Given the description of an element on the screen output the (x, y) to click on. 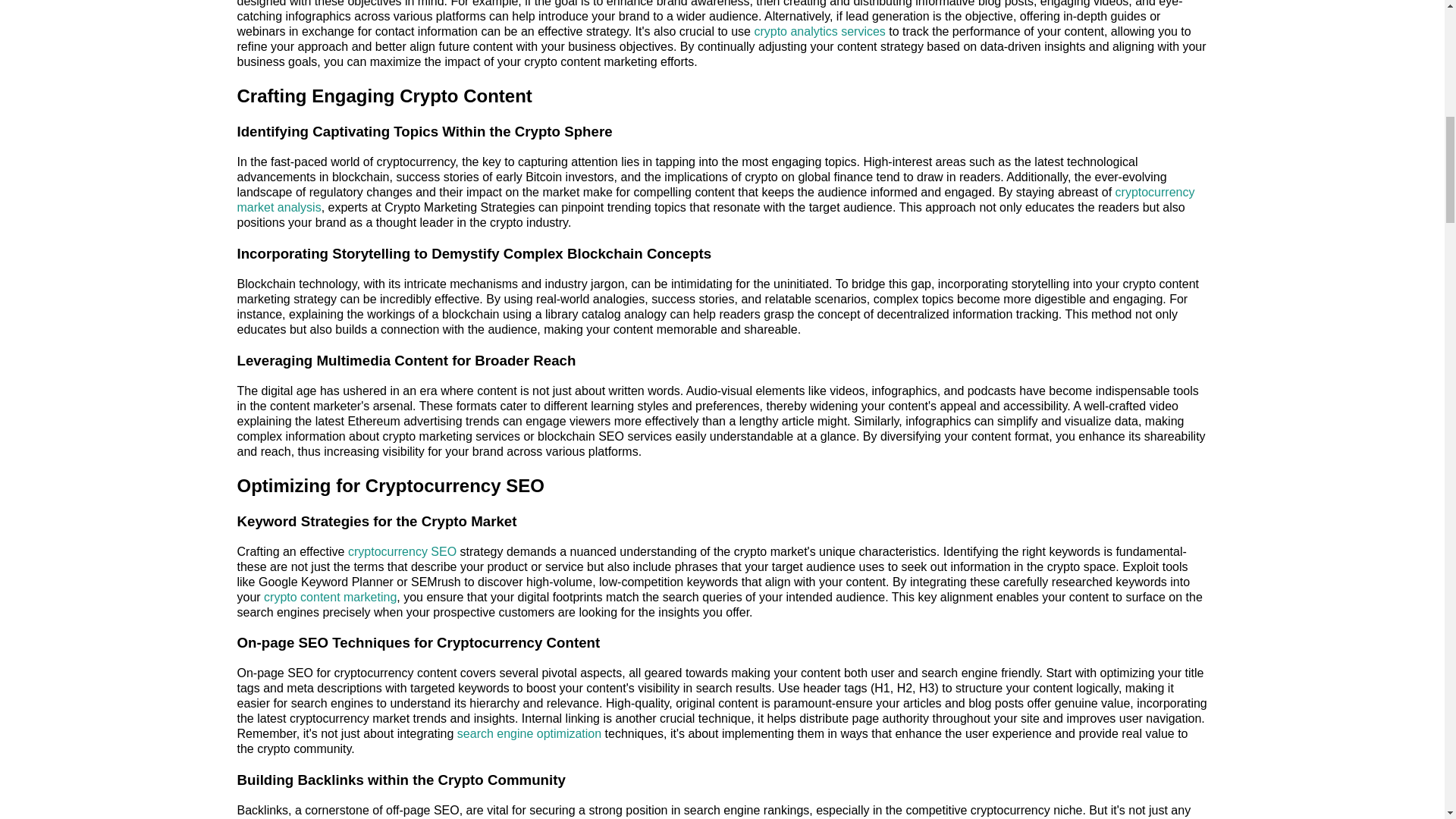
cryptocurrency SEO (402, 551)
crypto content marketing (329, 596)
crypto analytics services (819, 31)
search engine optimization (529, 733)
cryptocurrency market analysis (714, 199)
